Given the description of an element on the screen output the (x, y) to click on. 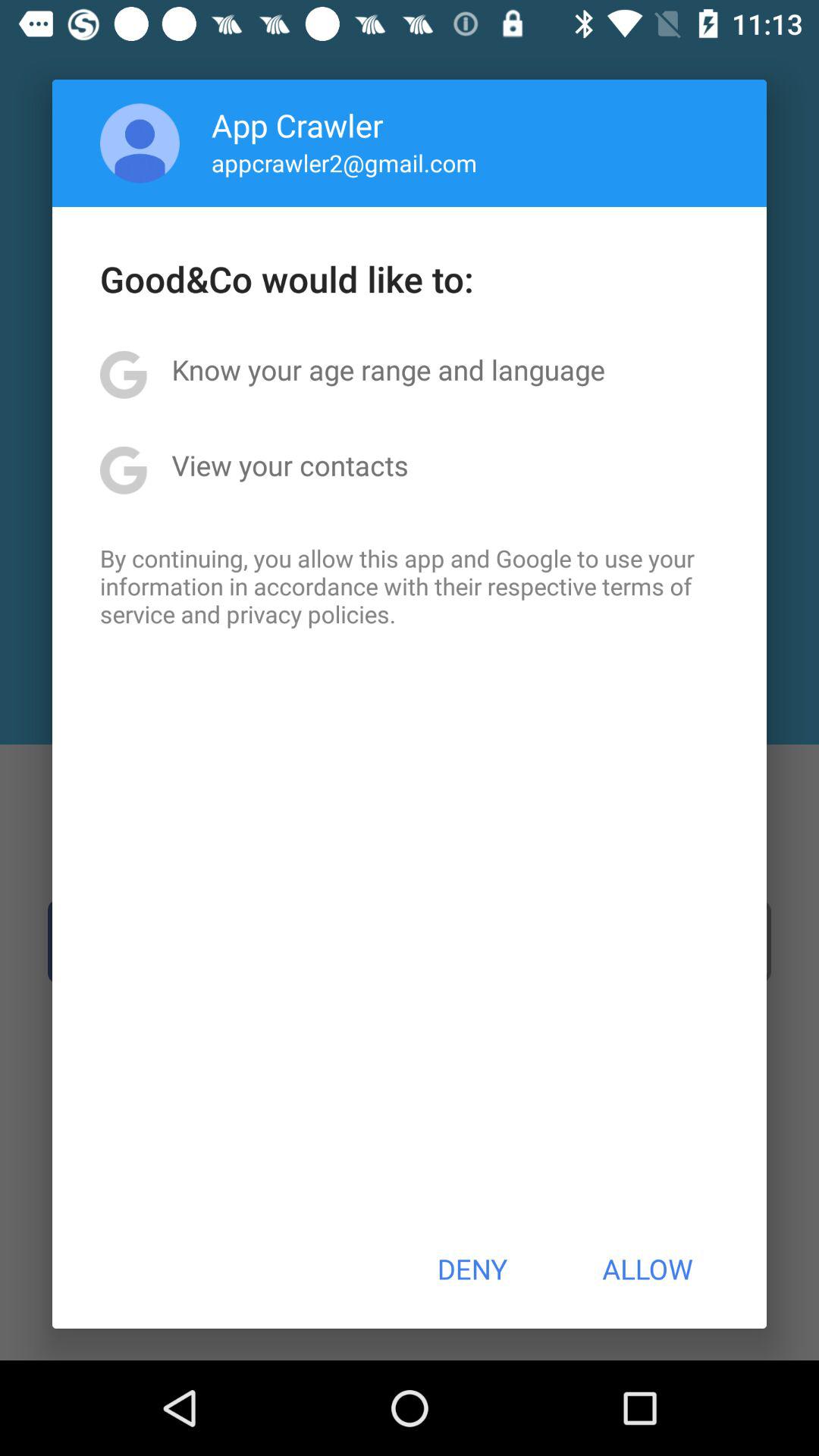
turn on item to the left of the app crawler (139, 143)
